Given the description of an element on the screen output the (x, y) to click on. 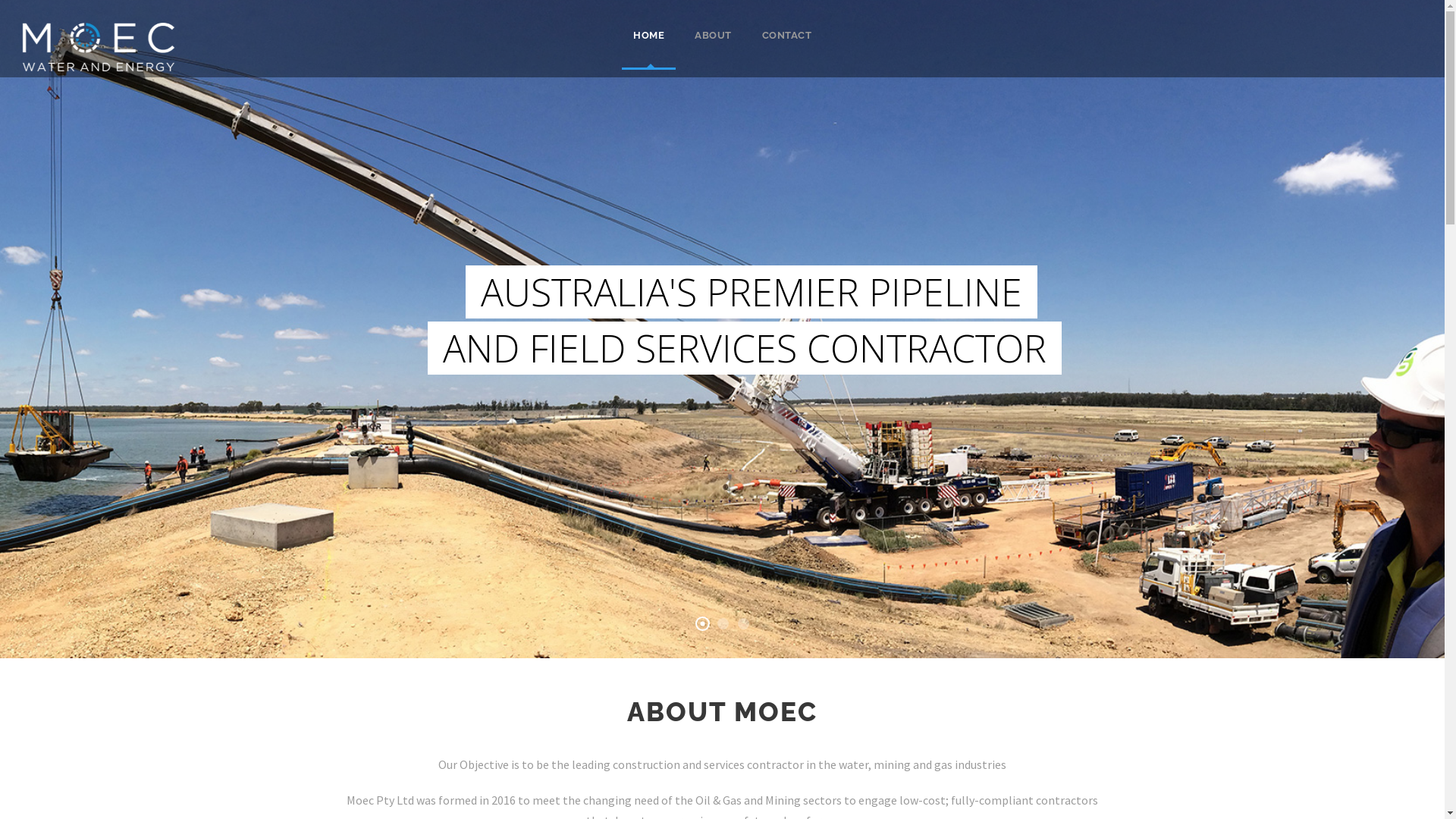
moec Element type: hover (98, 46)
HOME Element type: text (648, 48)
CONTACT Element type: text (786, 48)
ABOUT Element type: text (712, 48)
